Given the description of an element on the screen output the (x, y) to click on. 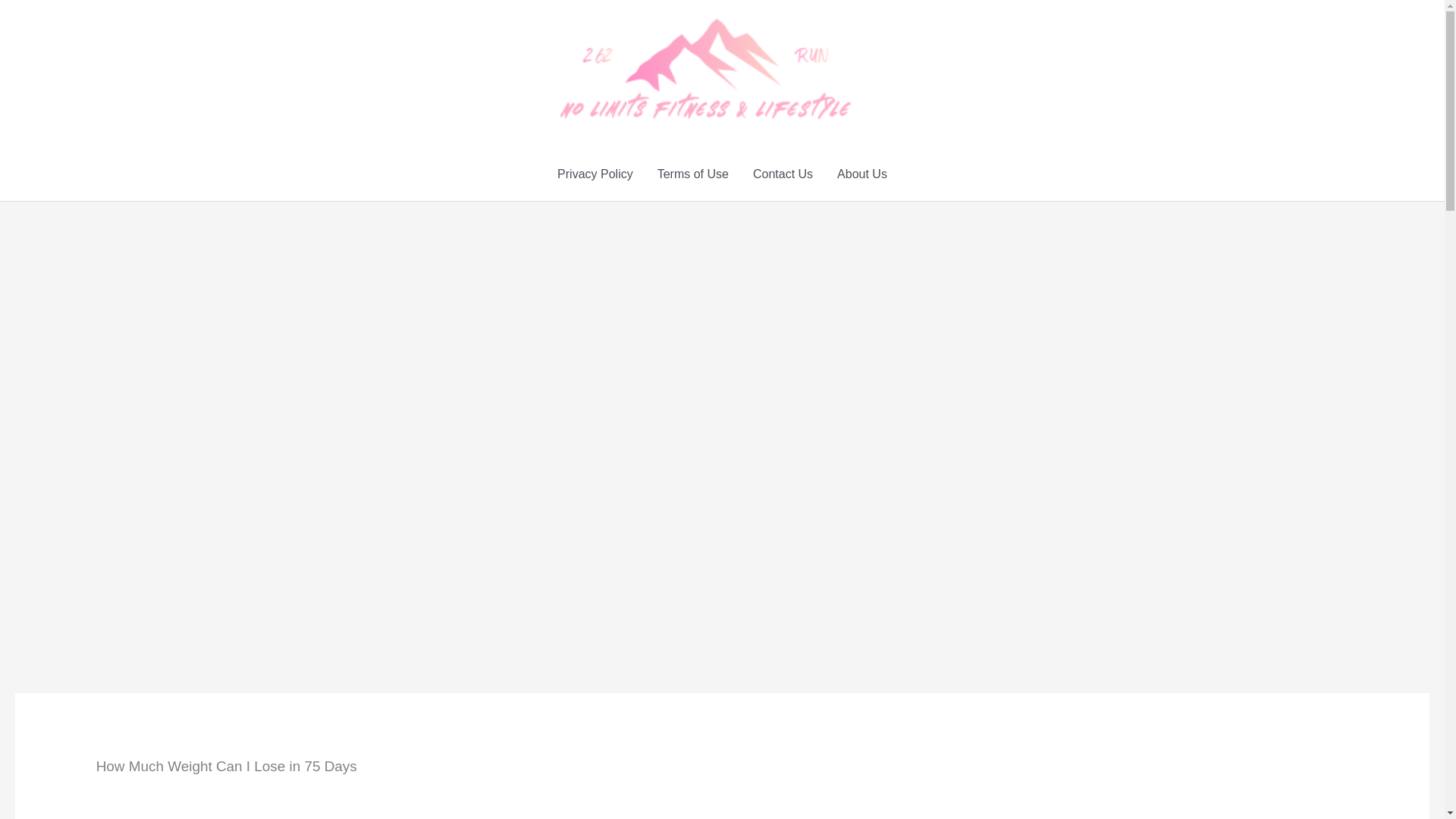
Contact Us (783, 174)
Privacy Policy (594, 174)
About Us (862, 174)
Terms of Use (693, 174)
262 Run (876, 68)
